Given the description of an element on the screen output the (x, y) to click on. 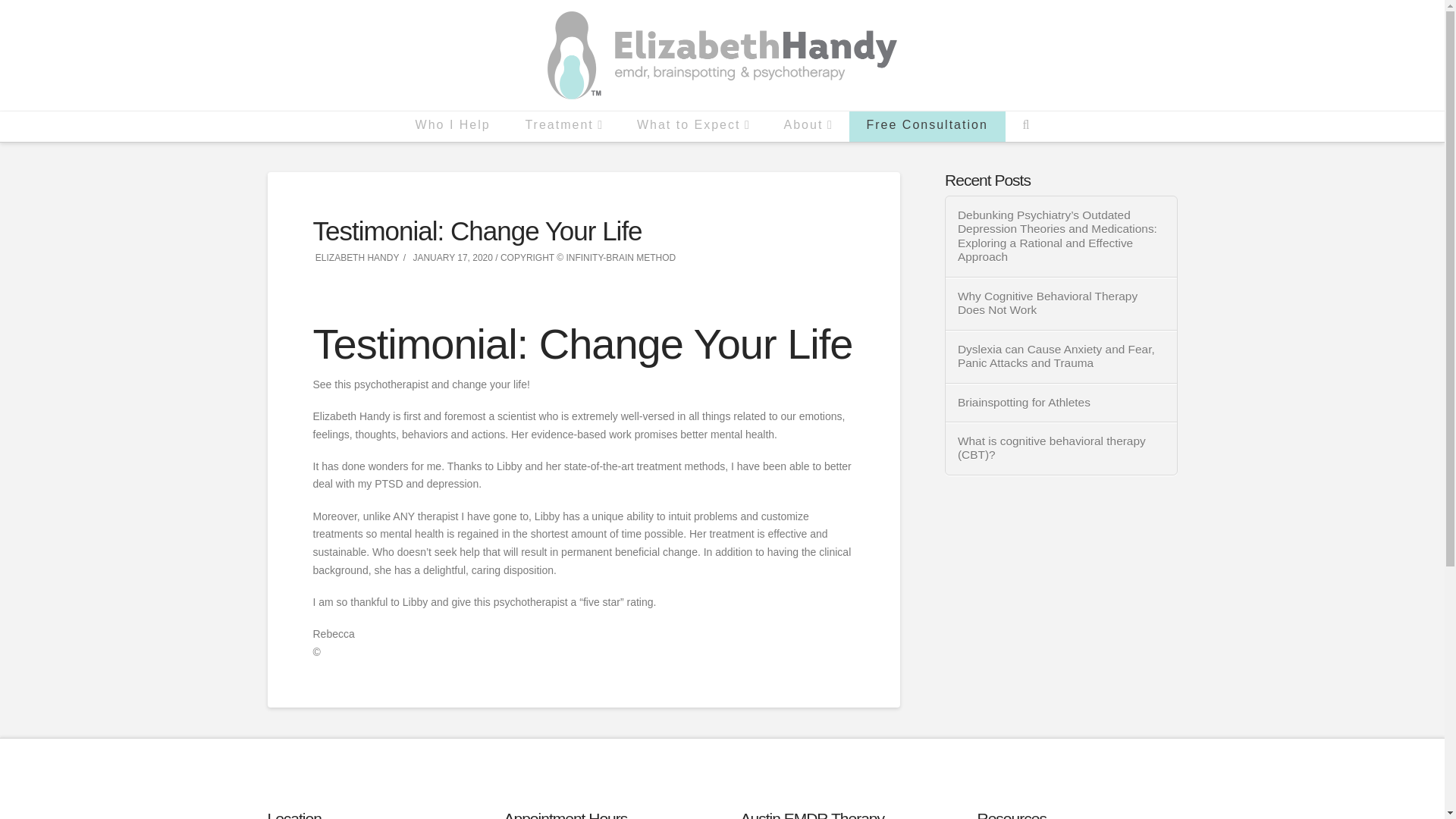
What to Expect (693, 125)
Free Consultation (927, 125)
Treatment (564, 125)
Briainspotting for Athletes (1061, 402)
Why Cognitive Behavioral Therapy Does Not Work (1061, 303)
Who I Help (452, 125)
About (807, 125)
